Given the description of an element on the screen output the (x, y) to click on. 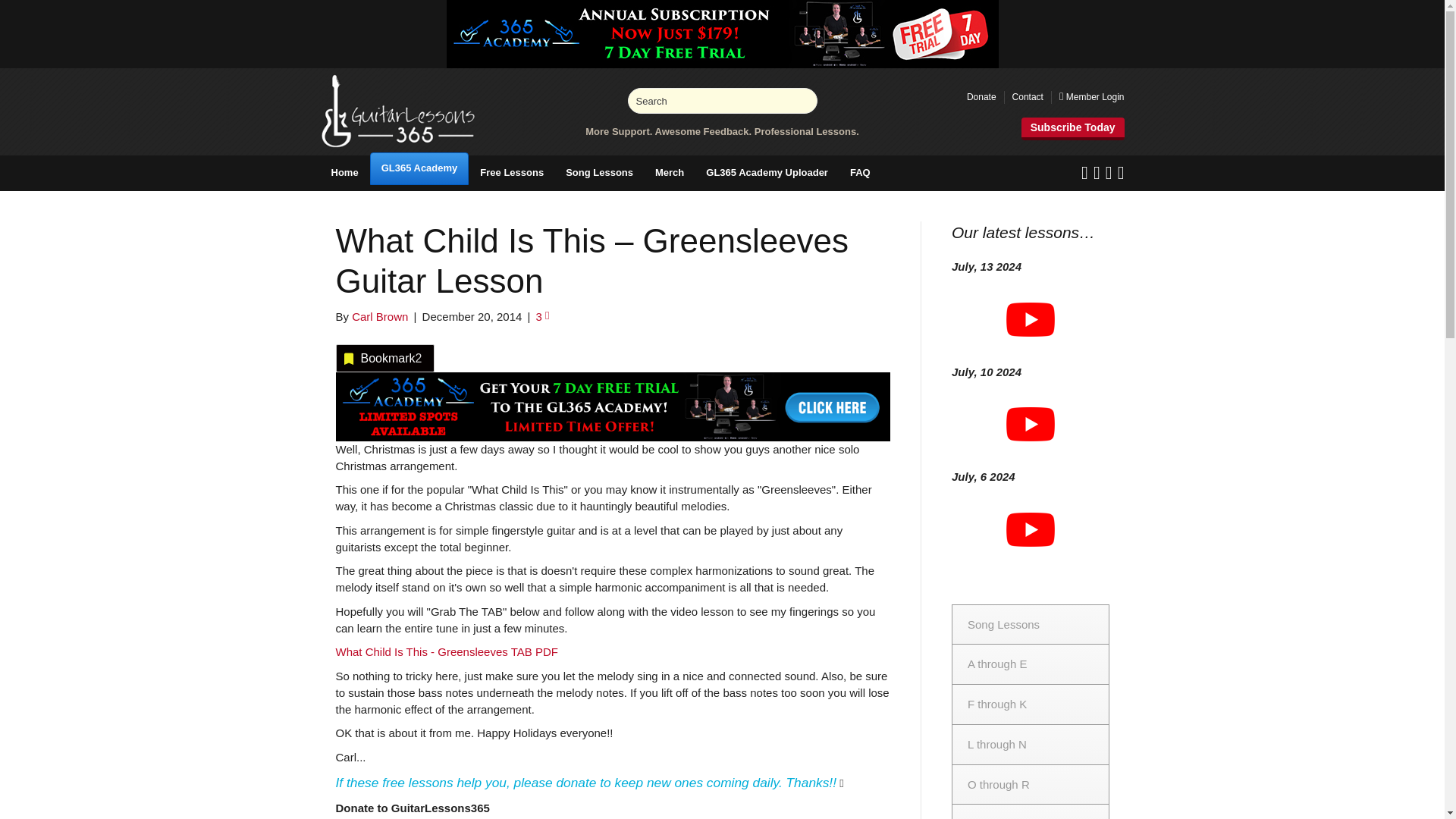
Type and press Enter to search. (722, 100)
FAQ (860, 172)
Donate (981, 97)
Member Login (1091, 97)
What Child Is This - Greensleeves TAB PDF (445, 651)
Contact (1027, 97)
Merch (669, 172)
Free Lessons (511, 172)
Song Lessons (598, 172)
Subscribe Today (1073, 128)
GL365 Academy Uploader (766, 172)
GL365 Academy (418, 168)
Home (344, 172)
logo-gitara (398, 111)
